Given the description of an element on the screen output the (x, y) to click on. 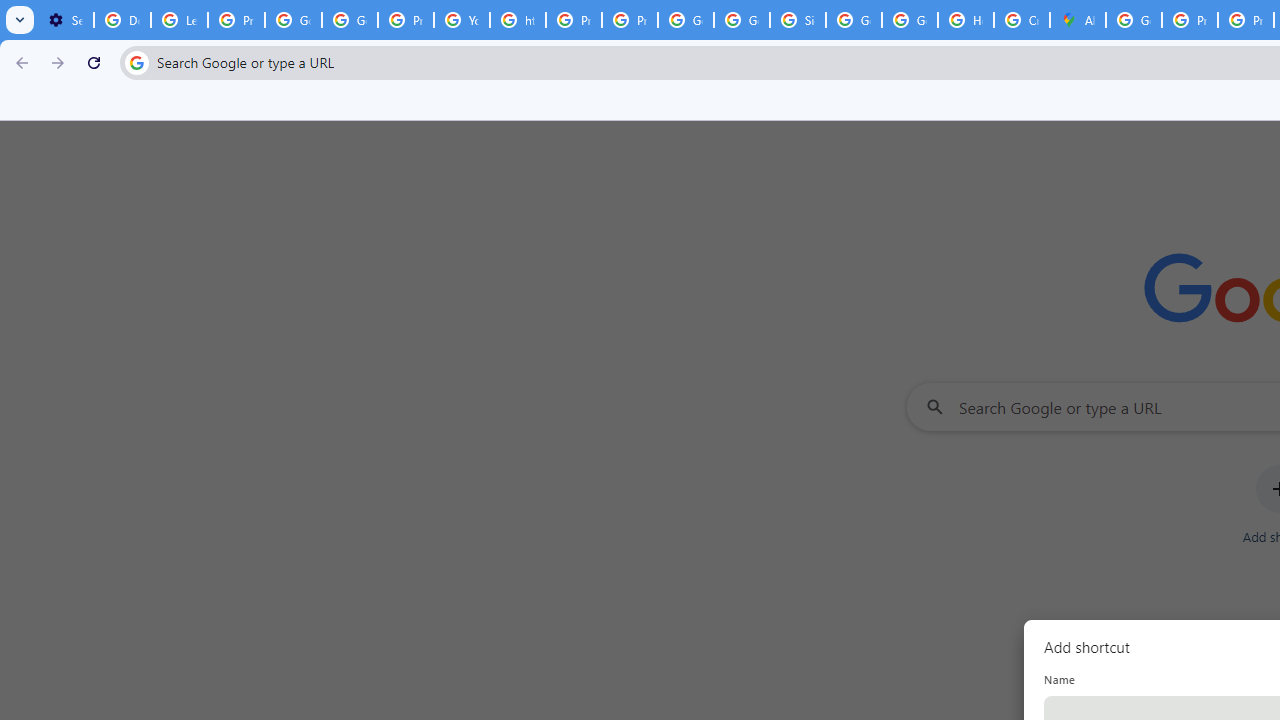
Settings - On startup (65, 20)
Create your Google Account (1021, 20)
YouTube (461, 20)
Delete photos & videos - Computer - Google Photos Help (122, 20)
Sign in - Google Accounts (797, 20)
